Given the description of an element on the screen output the (x, y) to click on. 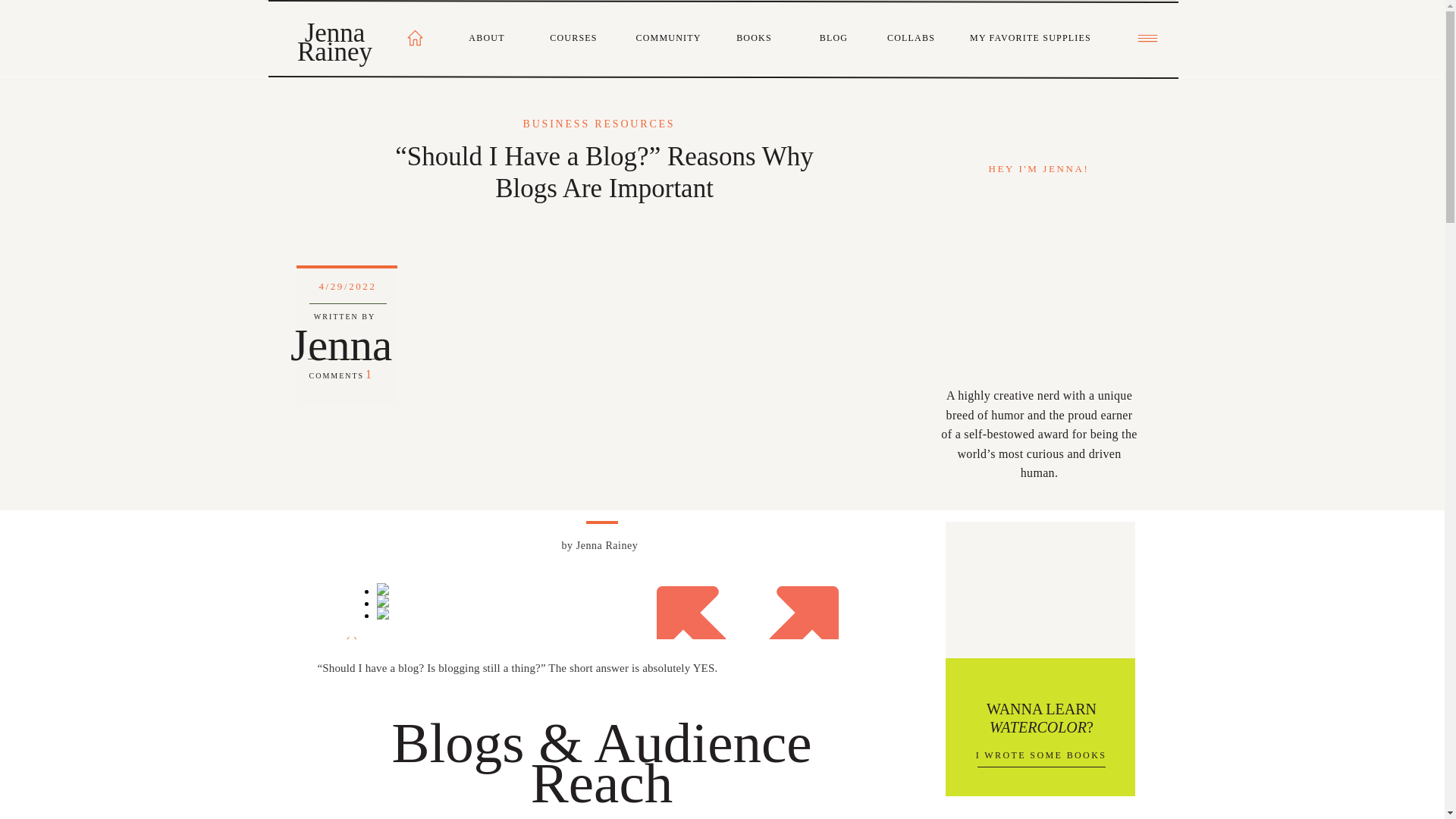
Jenna Rainey (335, 39)
COURSES (573, 38)
BLOG (834, 38)
MY FAVORITE SUPPLIES (1030, 38)
WANNA LEARN WATERCOLOR? (1040, 718)
BOOKS (754, 36)
COLLABS (911, 38)
I WROTE SOME BOOKS (1040, 751)
COMMUNITY (664, 37)
ABOUT (486, 38)
